Given the description of an element on the screen output the (x, y) to click on. 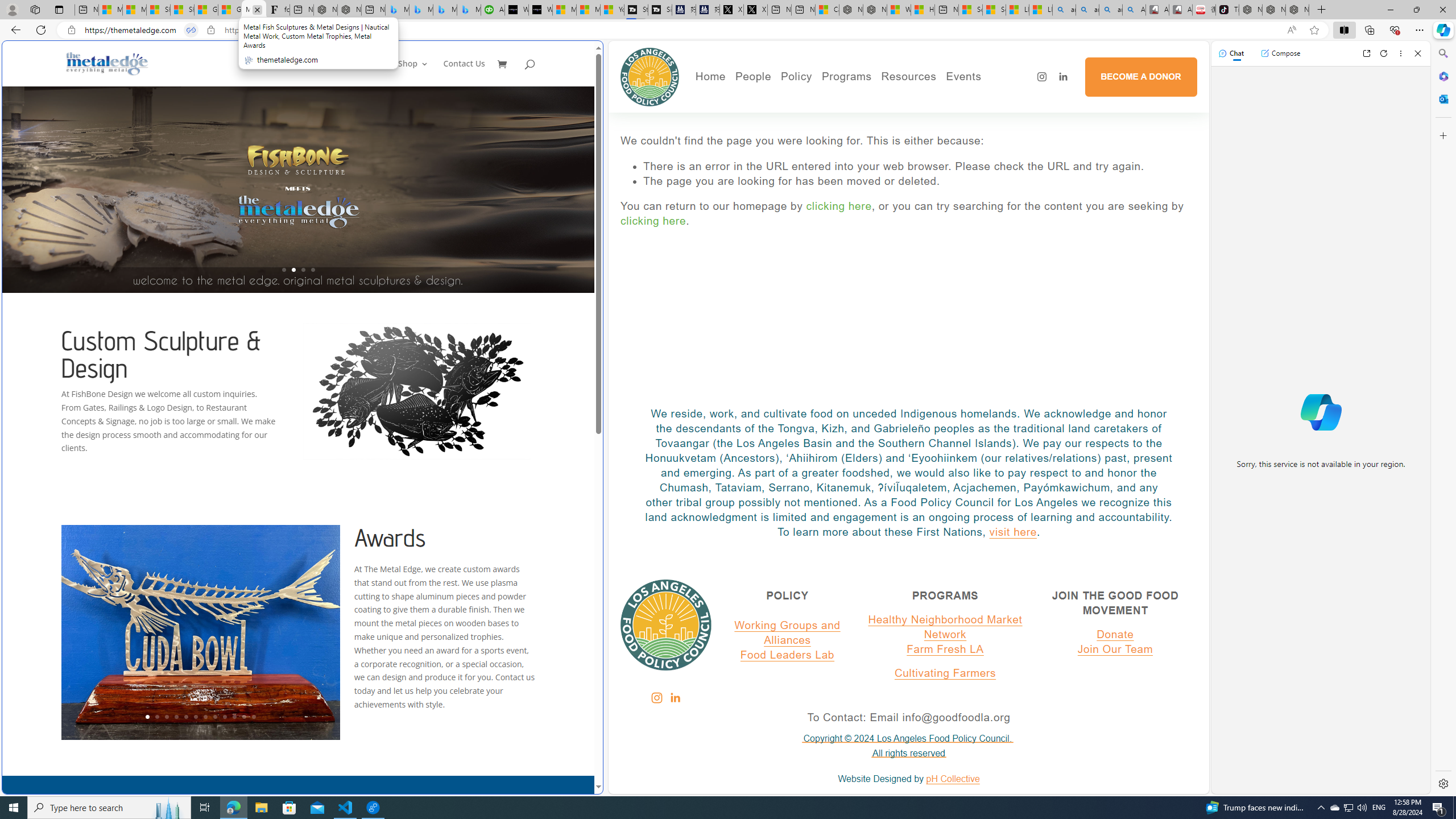
Shop3 (419, 72)
Publications (858, 113)
Nordace - Siena Pro 15 Essential Set (1297, 9)
Refresh (1383, 53)
Good Food Zones (951, 98)
TikTok (1227, 9)
Tabs in split screen (190, 29)
BECOME A DONOR (1140, 76)
Home (709, 76)
2 (156, 716)
visit here (1012, 531)
Contact Us (463, 72)
clicking here (652, 220)
